Given the description of an element on the screen output the (x, y) to click on. 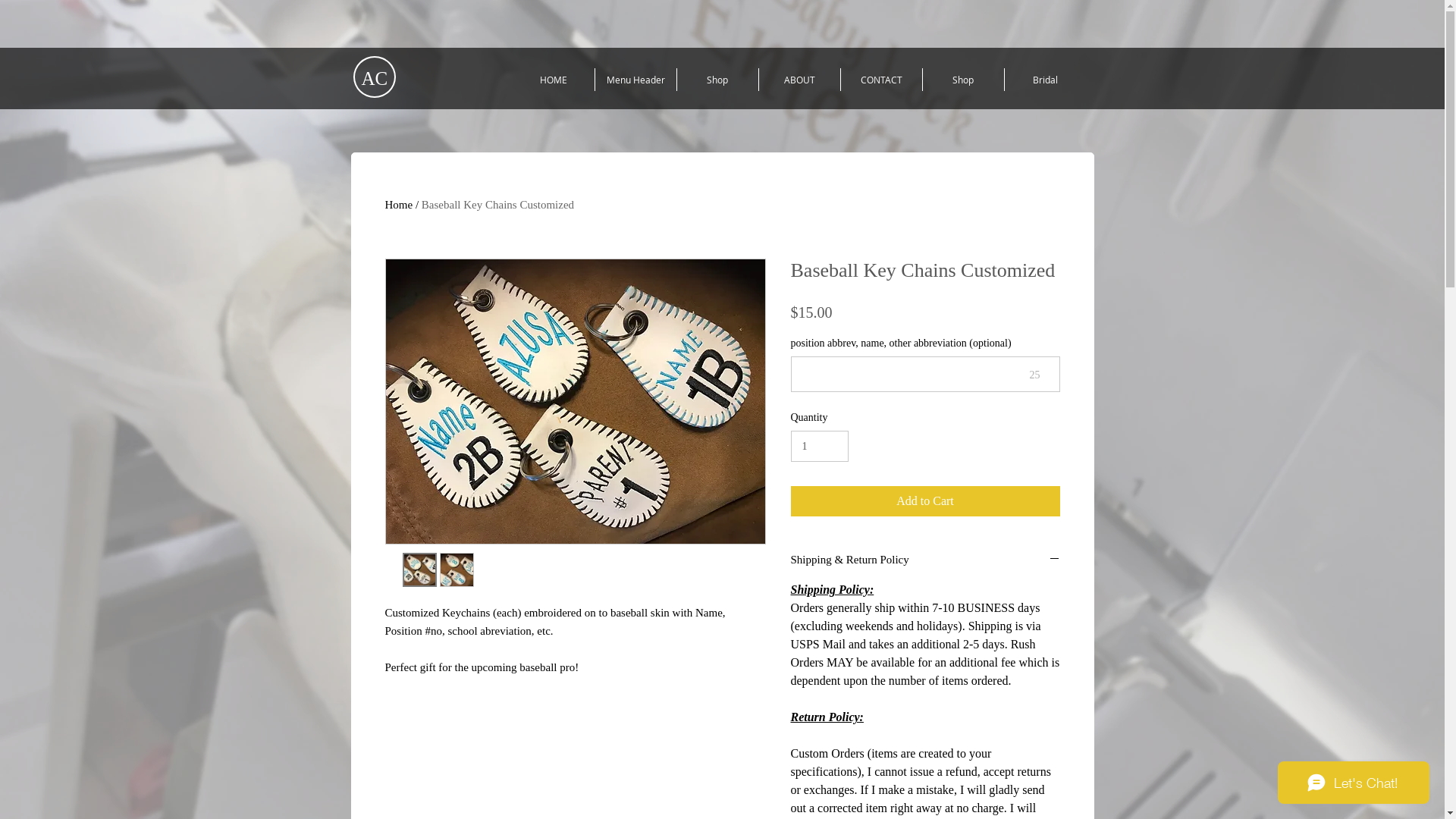
Baseball Key Chains Customized Element type: text (497, 204)
Bridal Element type: text (1044, 79)
AC Element type: text (373, 78)
Shop Element type: text (962, 79)
CONTACT Element type: text (880, 79)
Home Element type: text (399, 204)
ABOUT Element type: text (798, 79)
HOME Element type: text (553, 79)
Shipping & Return Policy Element type: text (924, 560)
Add to Cart Element type: text (924, 501)
Shop Element type: text (716, 79)
